Given the description of an element on the screen output the (x, y) to click on. 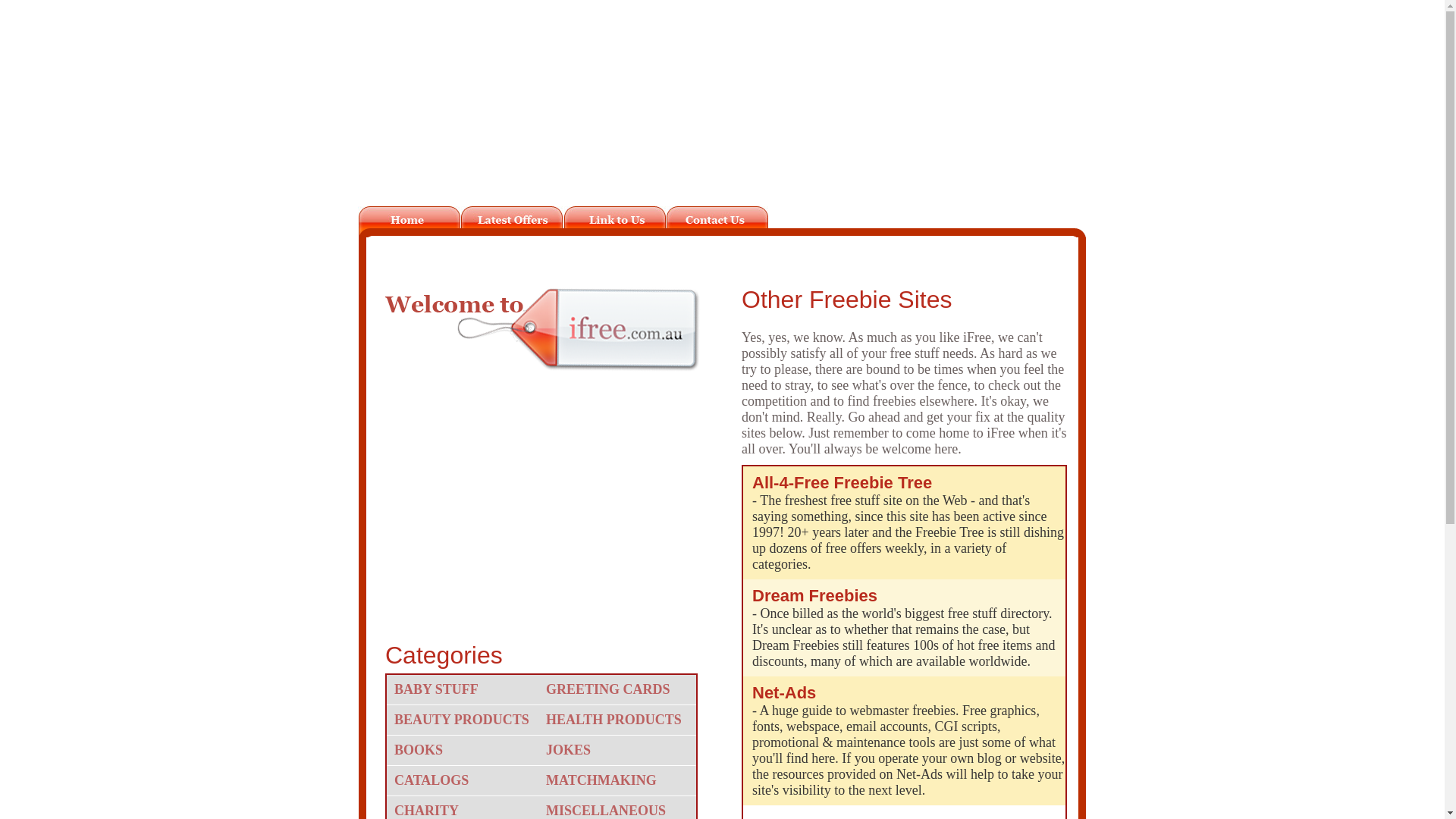
Advertisement Element type: hover (723, 112)
Advertisement Element type: hover (529, 513)
JOKES Element type: text (617, 750)
BOOKS Element type: text (466, 750)
BABY STUFF Element type: text (466, 689)
Dream Freebies Element type: text (908, 603)
All-4-Free Freebie Tree Element type: text (908, 490)
CATALOGS Element type: text (466, 780)
BEAUTY PRODUCTS Element type: text (466, 720)
Net-Ads Element type: text (908, 700)
GREETING CARDS Element type: text (617, 689)
HEALTH PRODUCTS Element type: text (617, 720)
MATCHMAKING Element type: text (617, 780)
